Given the description of an element on the screen output the (x, y) to click on. 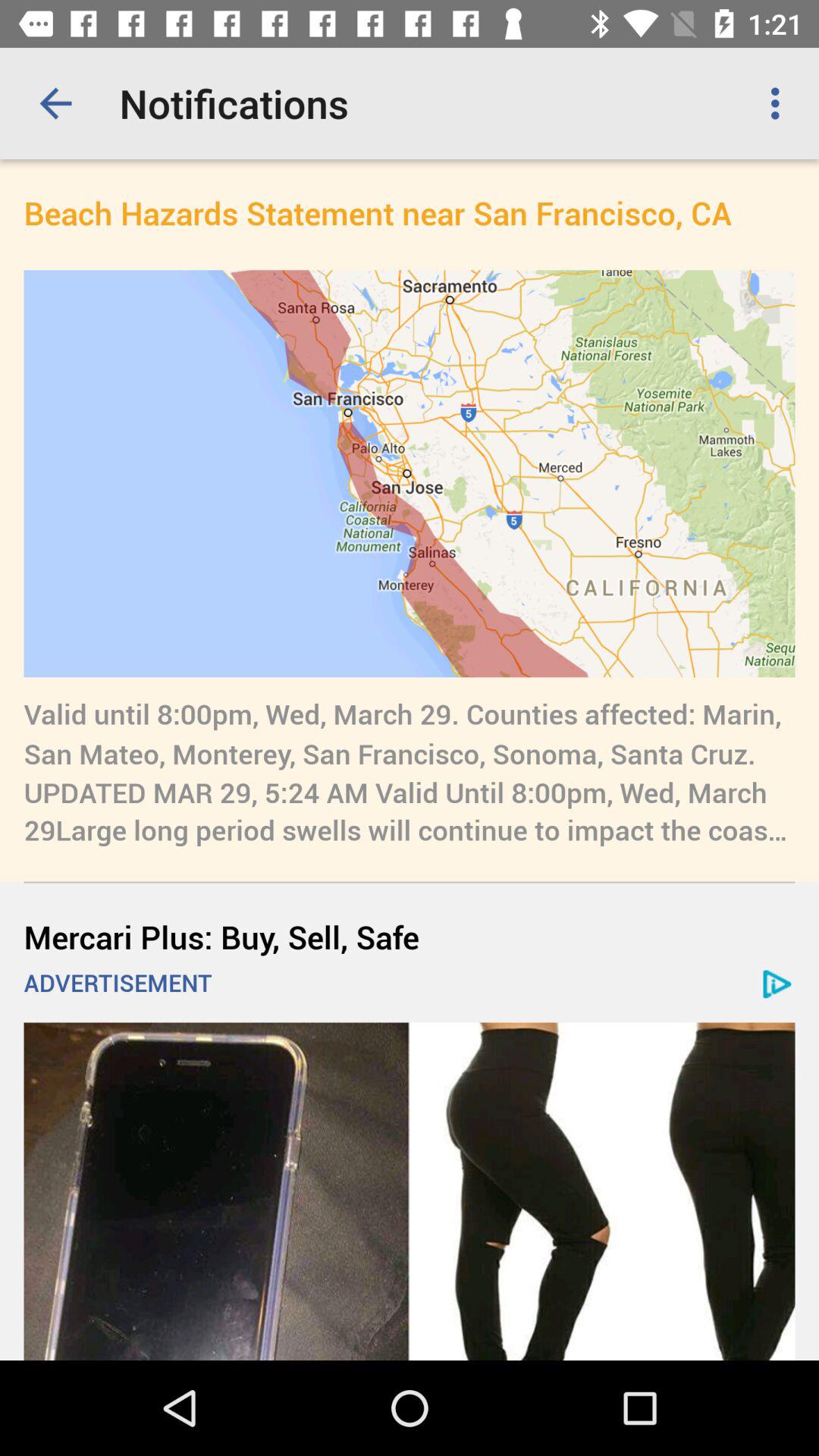
swipe to the mercari plus buy icon (409, 936)
